Given the description of an element on the screen output the (x, y) to click on. 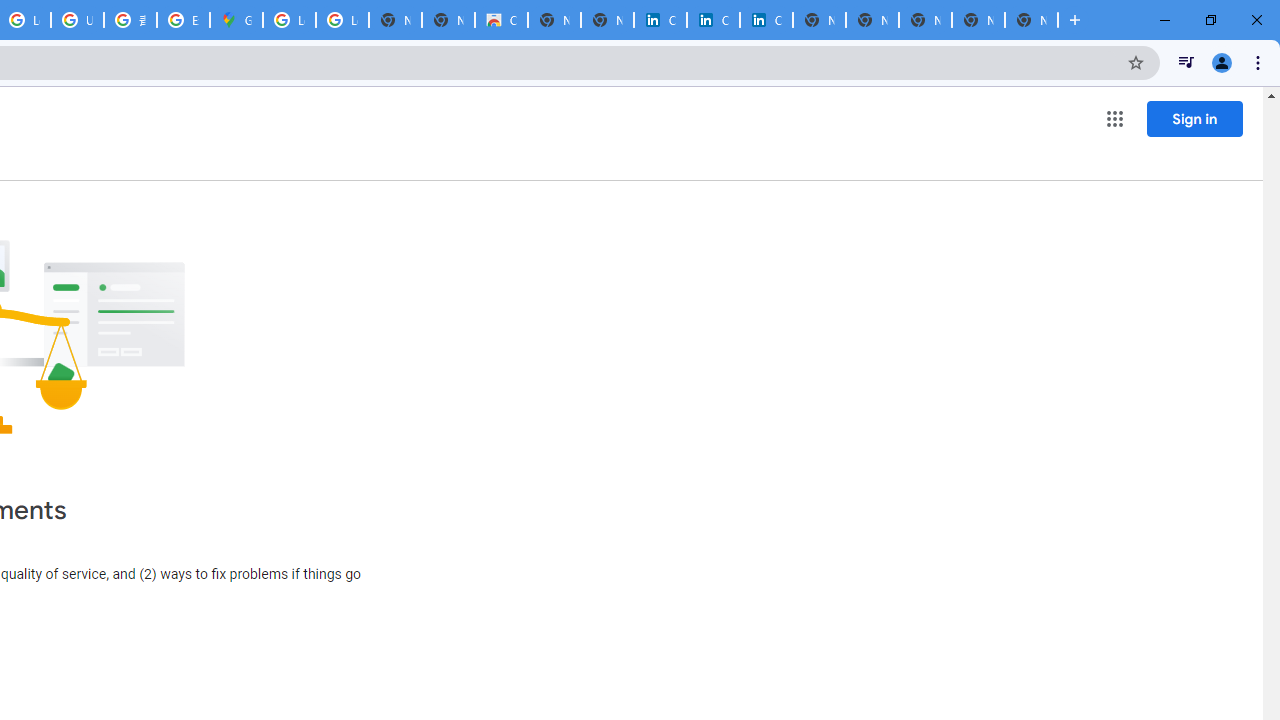
Copyright Policy (766, 20)
